Given the description of an element on the screen output the (x, y) to click on. 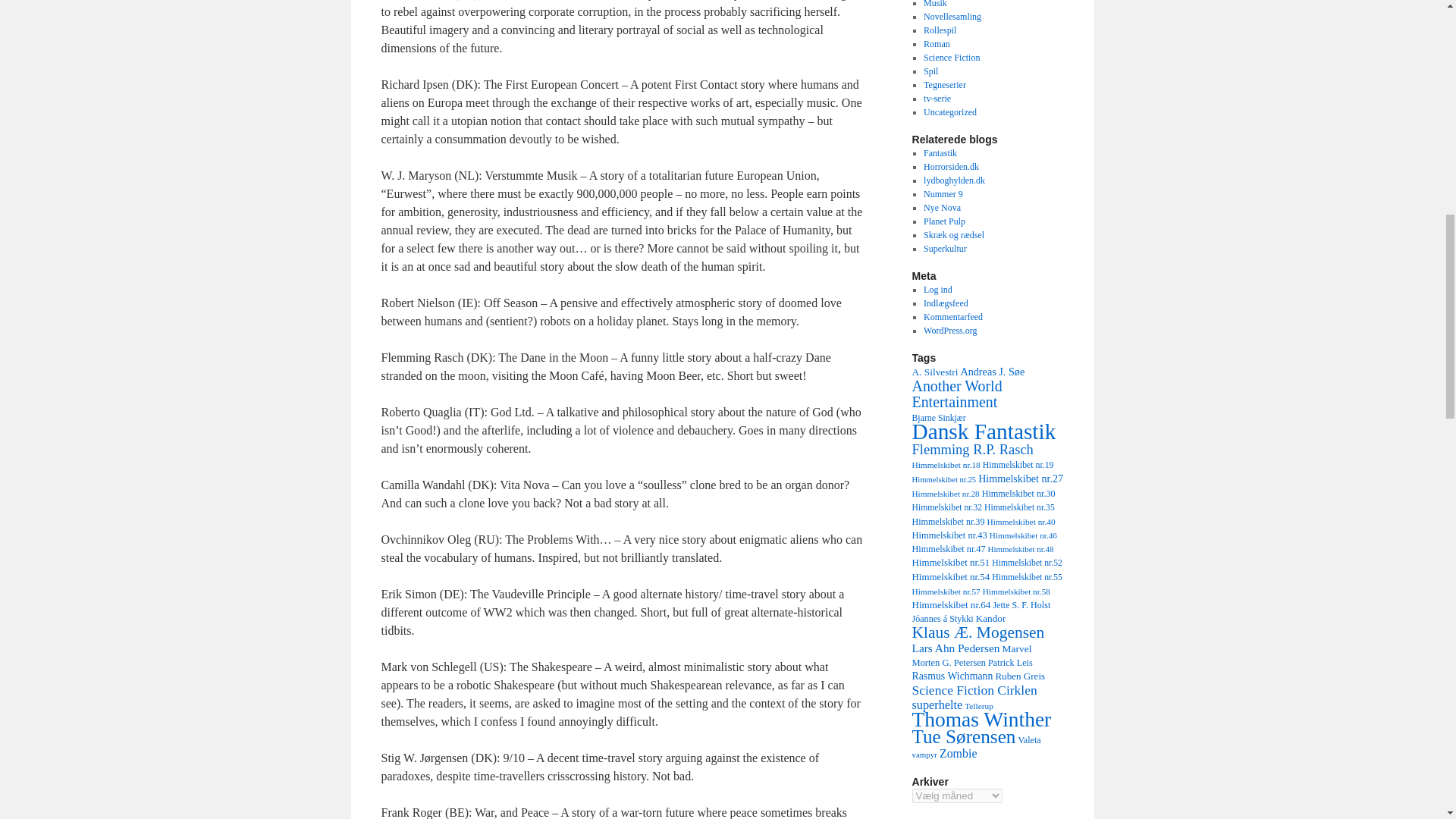
Norsk online magasin (941, 207)
